Given the description of an element on the screen output the (x, y) to click on. 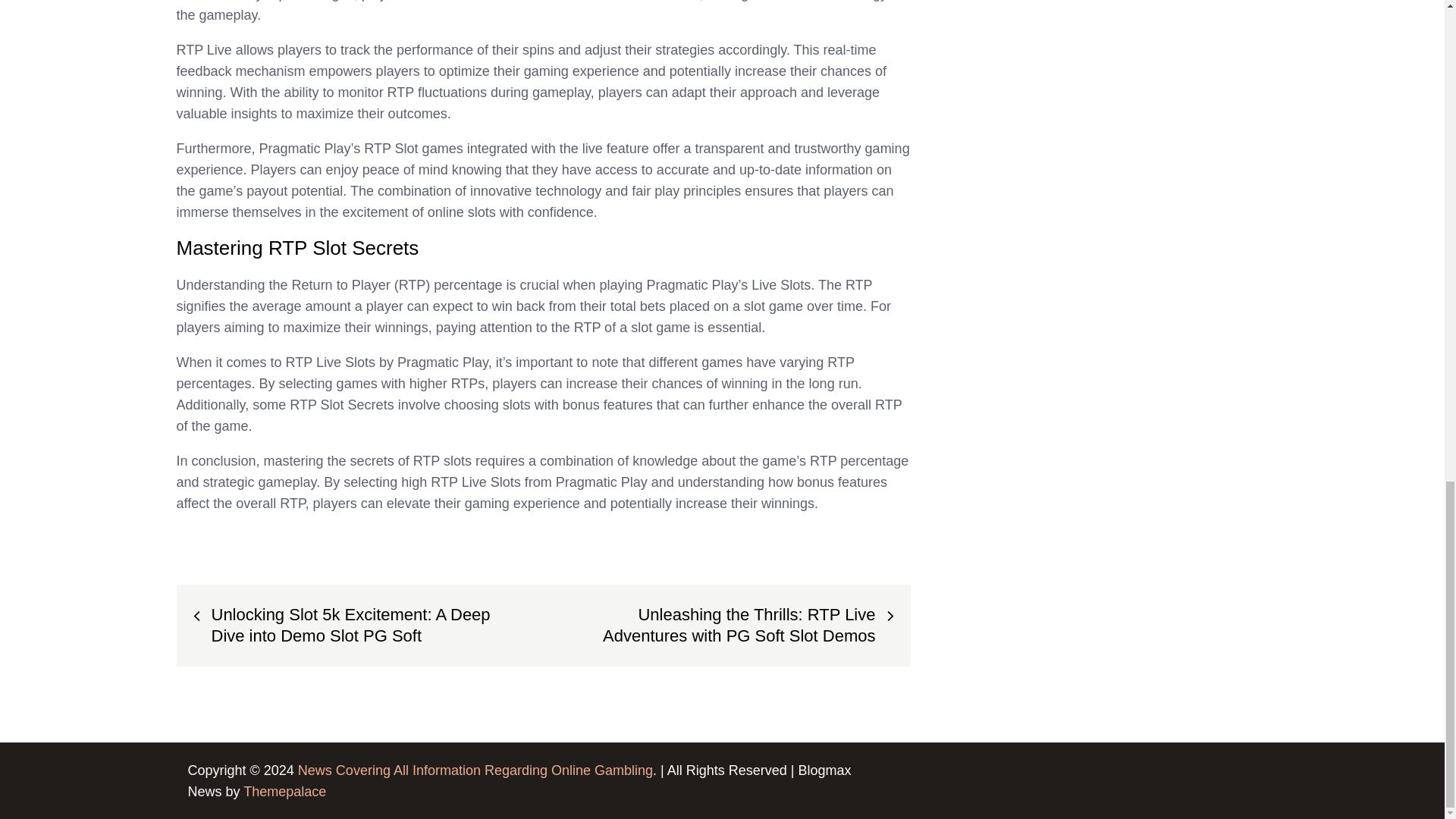
News Covering All Information Regarding Online Gambling (475, 770)
Themepalace (284, 791)
